Given the description of an element on the screen output the (x, y) to click on. 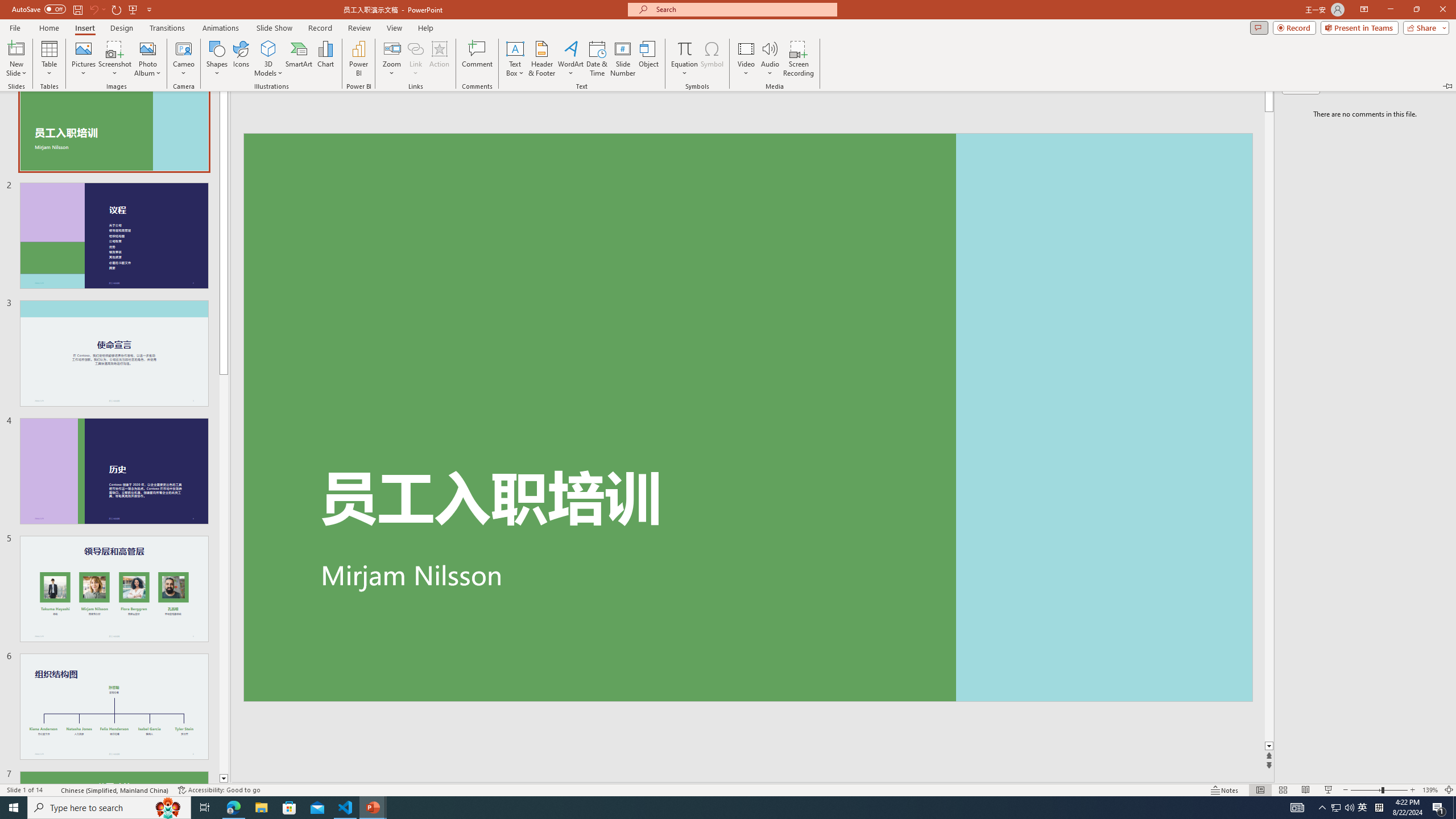
File Explorer (261, 807)
Microsoft Store (289, 807)
